Given the description of an element on the screen output the (x, y) to click on. 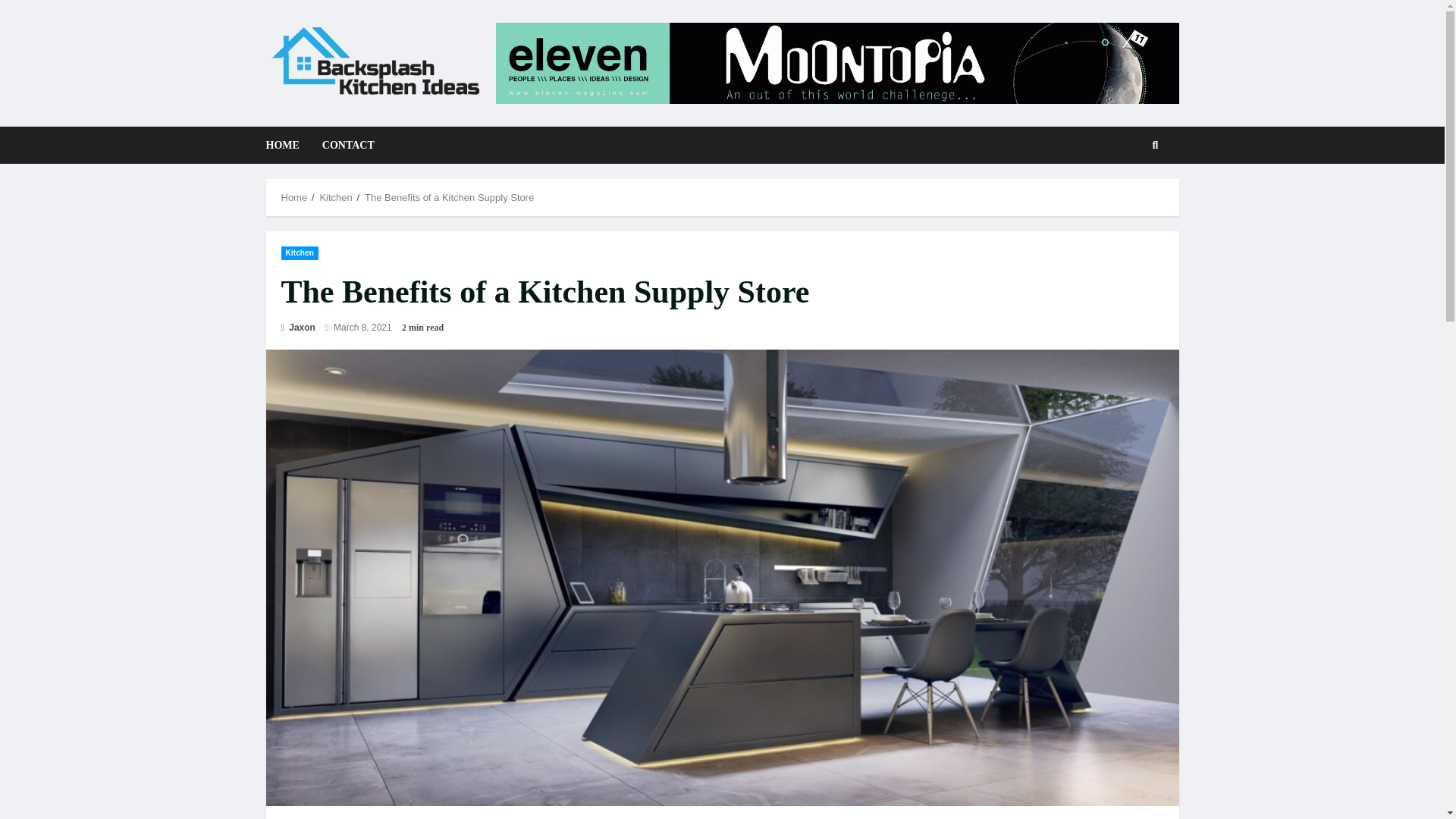
Jaxon (297, 327)
Search (1131, 196)
HOME (287, 144)
Kitchen (335, 197)
The Benefits of a Kitchen Supply Store (449, 197)
Home (294, 197)
Kitchen (299, 253)
CONTACT (342, 144)
